Given the description of an element on the screen output the (x, y) to click on. 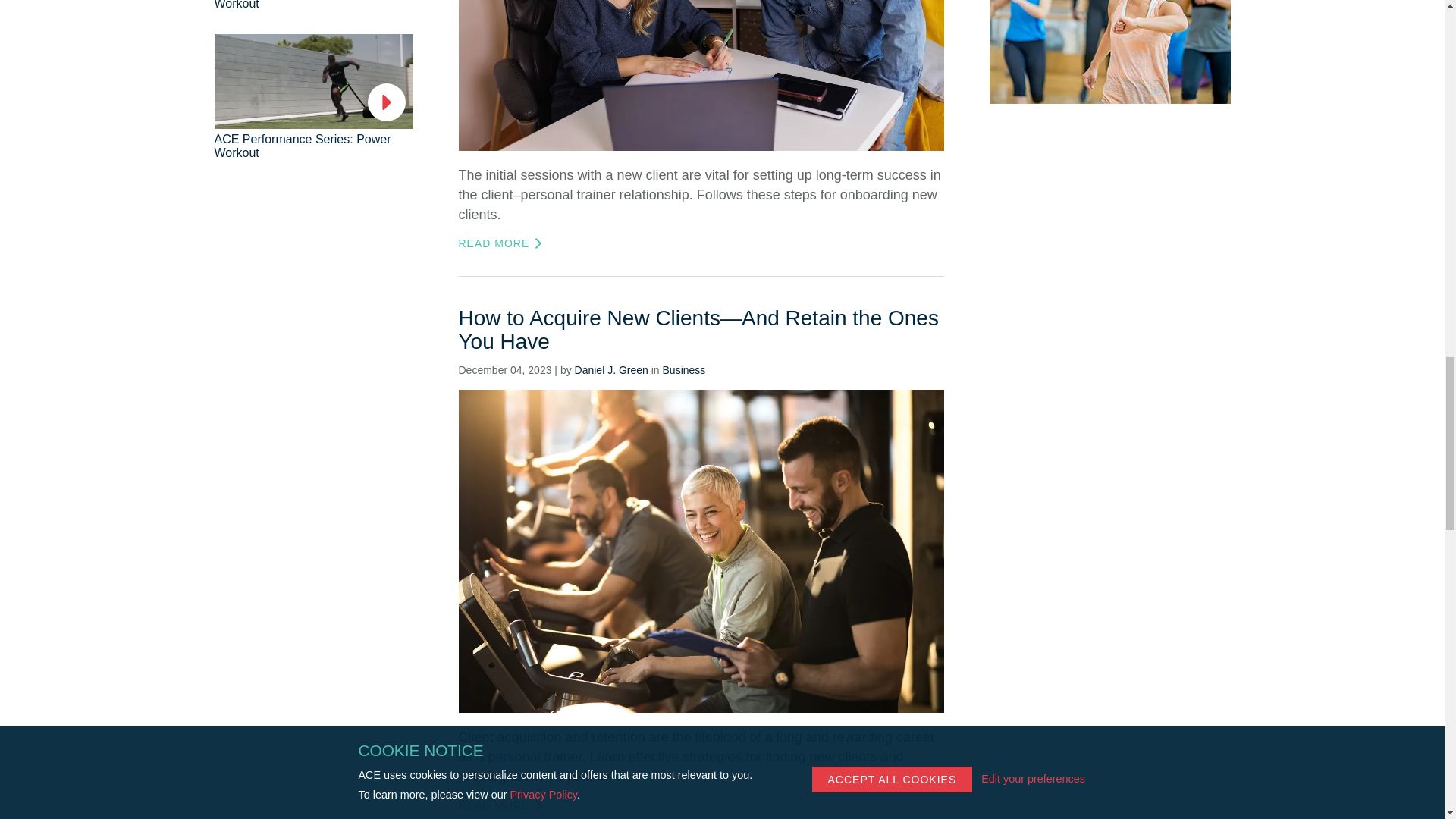
Business (684, 369)
